Given the description of an element on the screen output the (x, y) to click on. 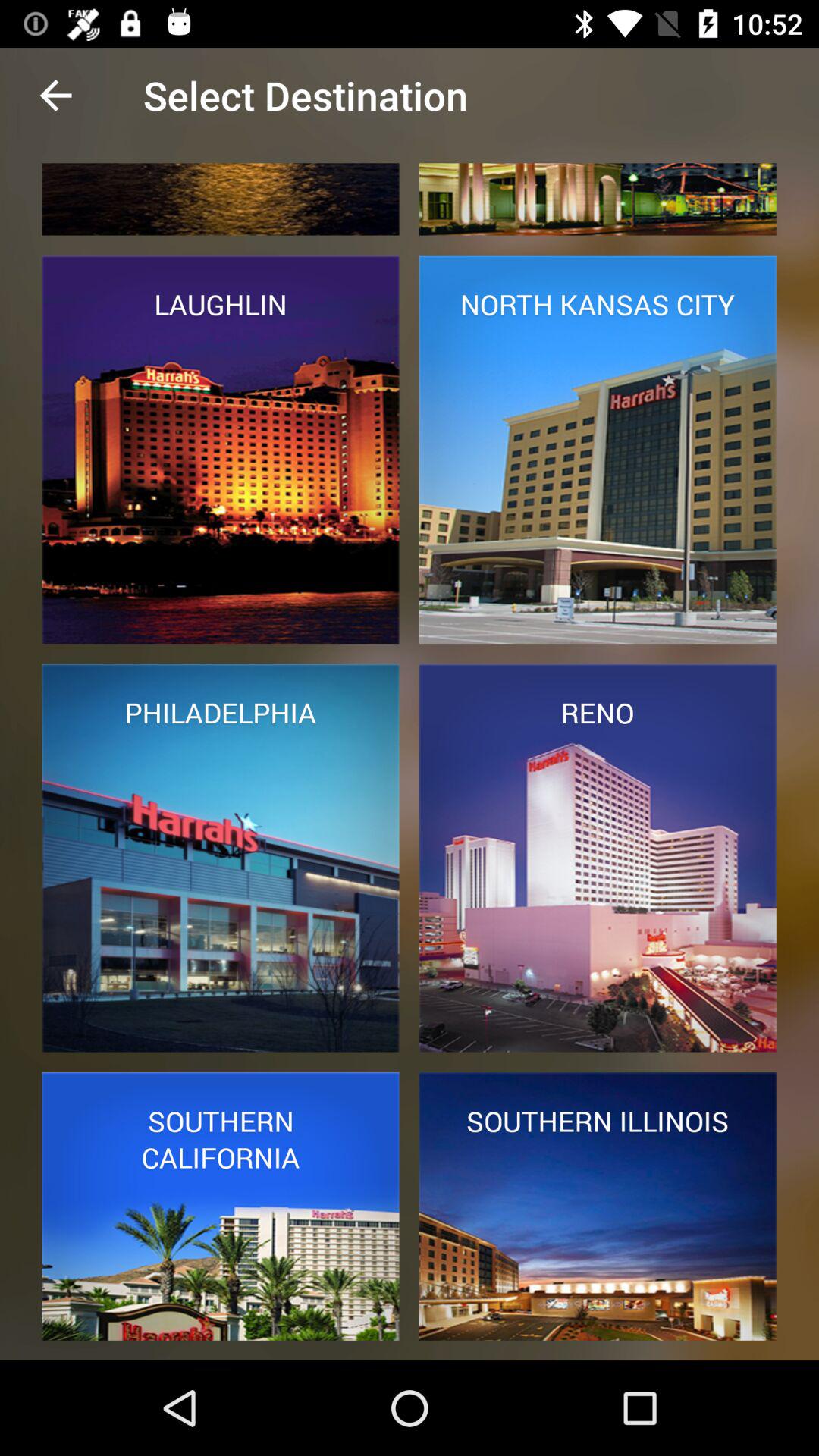
open the item next to select destination (55, 95)
